Given the description of an element on the screen output the (x, y) to click on. 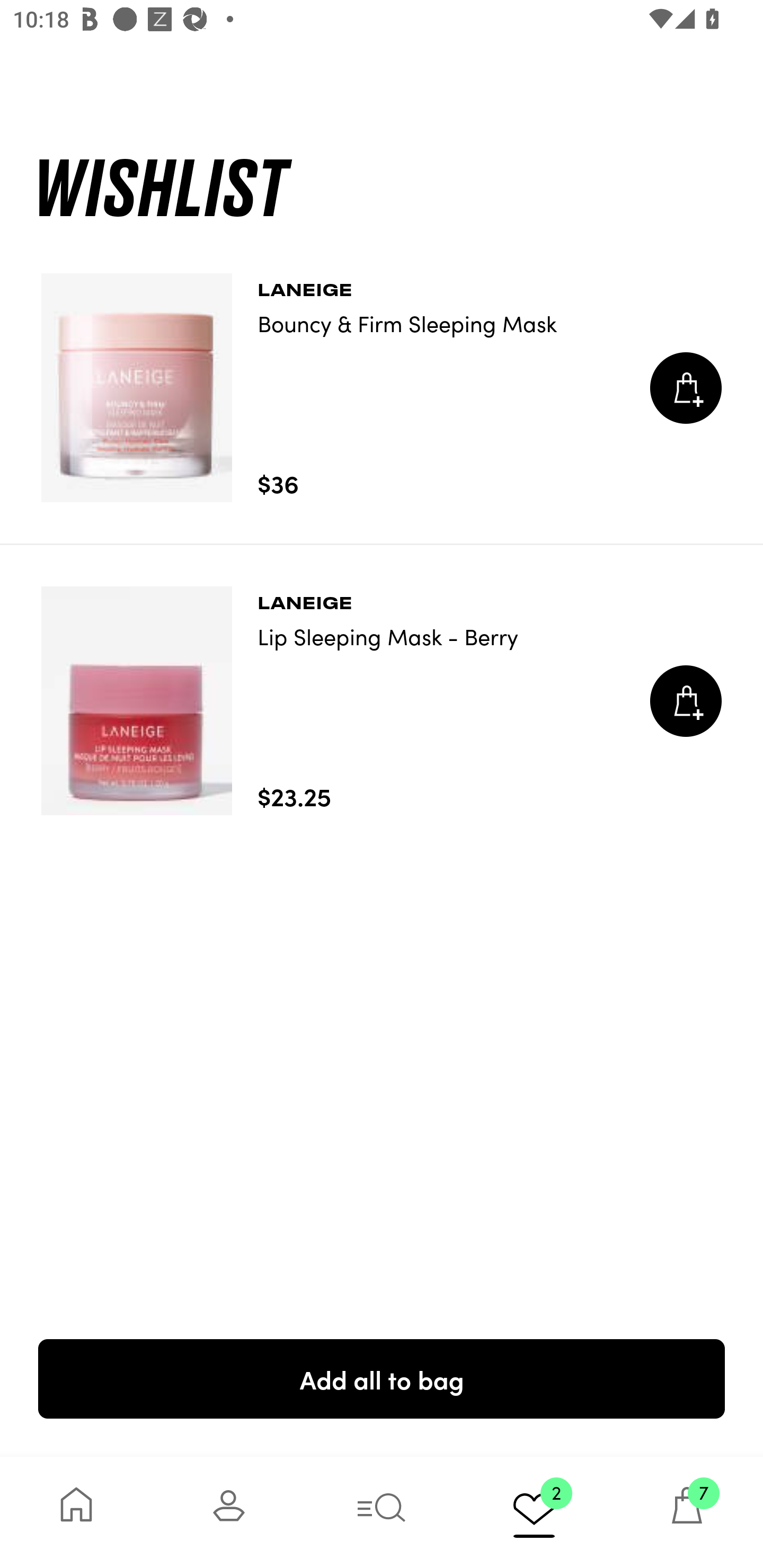
LANEIGE Bouncy & Firm Sleeping Mask $36 (381, 388)
LANEIGE Lip Sleeping Mask - Berry $23.25 (381, 700)
Add all to bag (381, 1379)
2 (533, 1512)
7 (686, 1512)
